Given the description of an element on the screen output the (x, y) to click on. 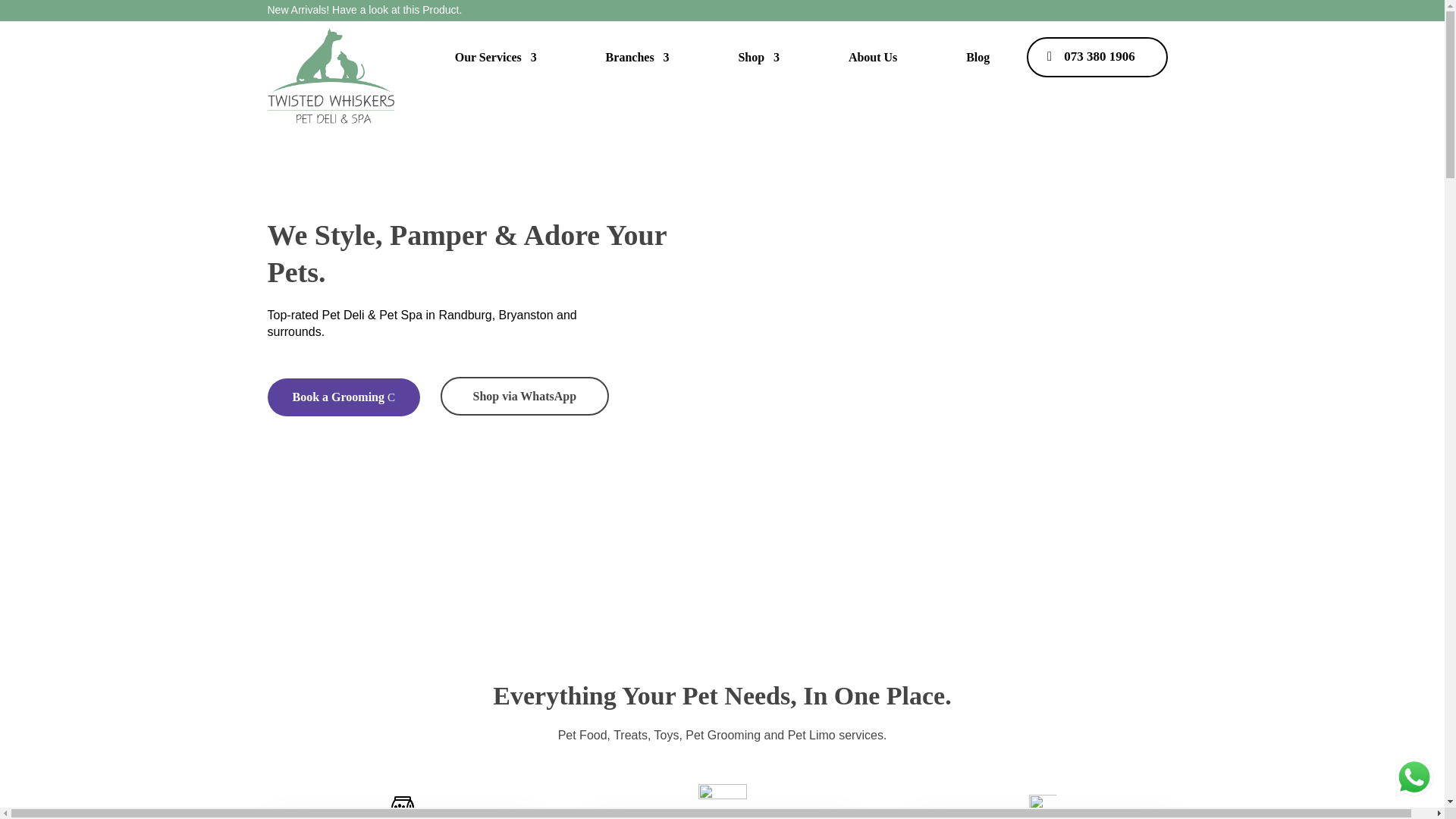
Pet Shop icon (1041, 806)
WhatsApp us (1413, 777)
Our Services (495, 57)
About Us (872, 57)
Pet Shop icon (401, 801)
Branches (637, 57)
Blog (978, 57)
pet-brush (721, 801)
Shop (758, 57)
Twisted-Whiskers-Header-Logo (329, 75)
